Given the description of an element on the screen output the (x, y) to click on. 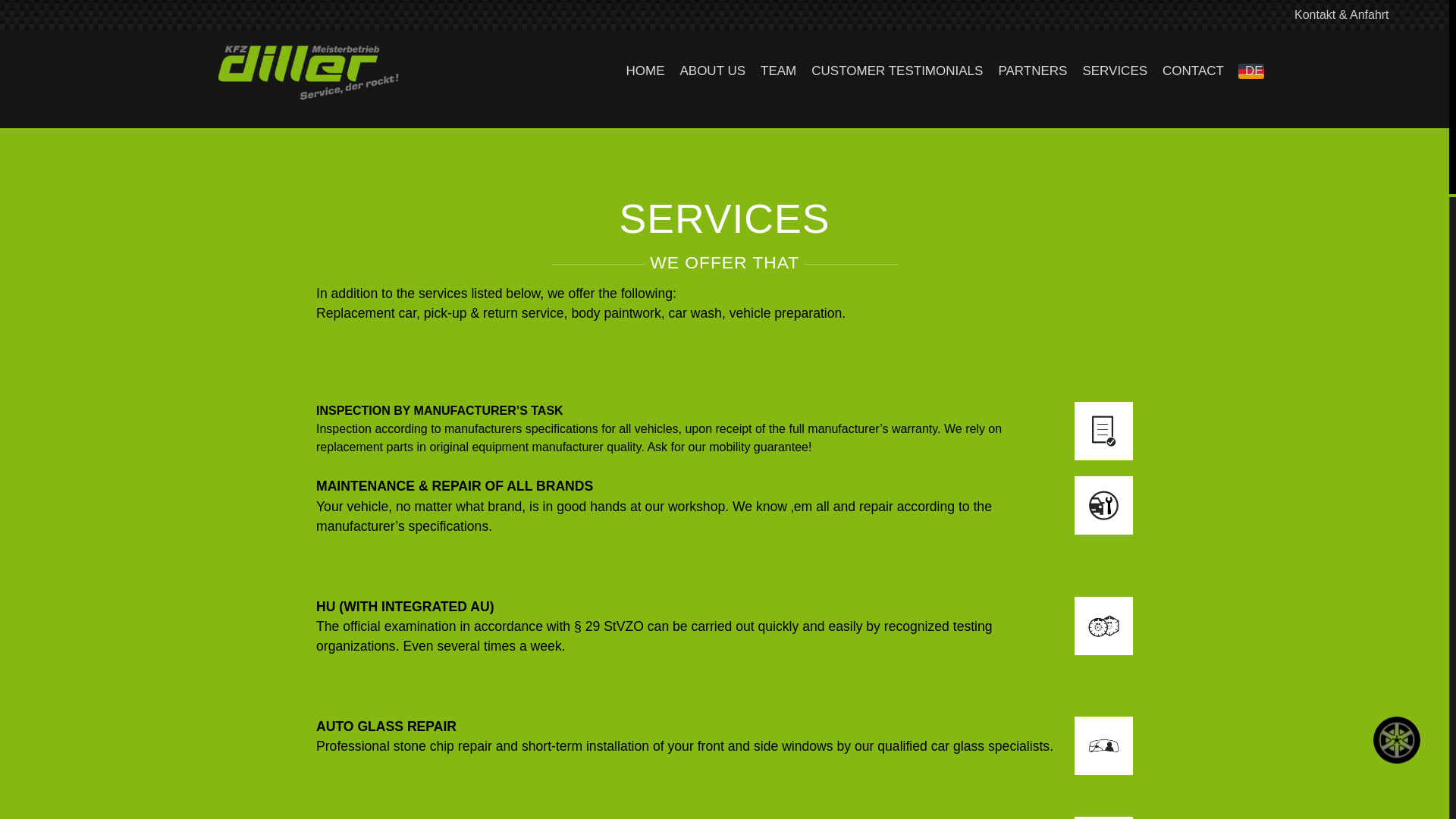
SERVICES (1114, 70)
PARTNERS (1032, 70)
CAR SERVICE DILLER (279, 158)
DE (1263, 70)
TEAM (777, 70)
HOME (644, 70)
CONTACT (1192, 70)
CUSTOMER TESTIMONIALS (896, 70)
ABOUT US (711, 70)
